Given the description of an element on the screen output the (x, y) to click on. 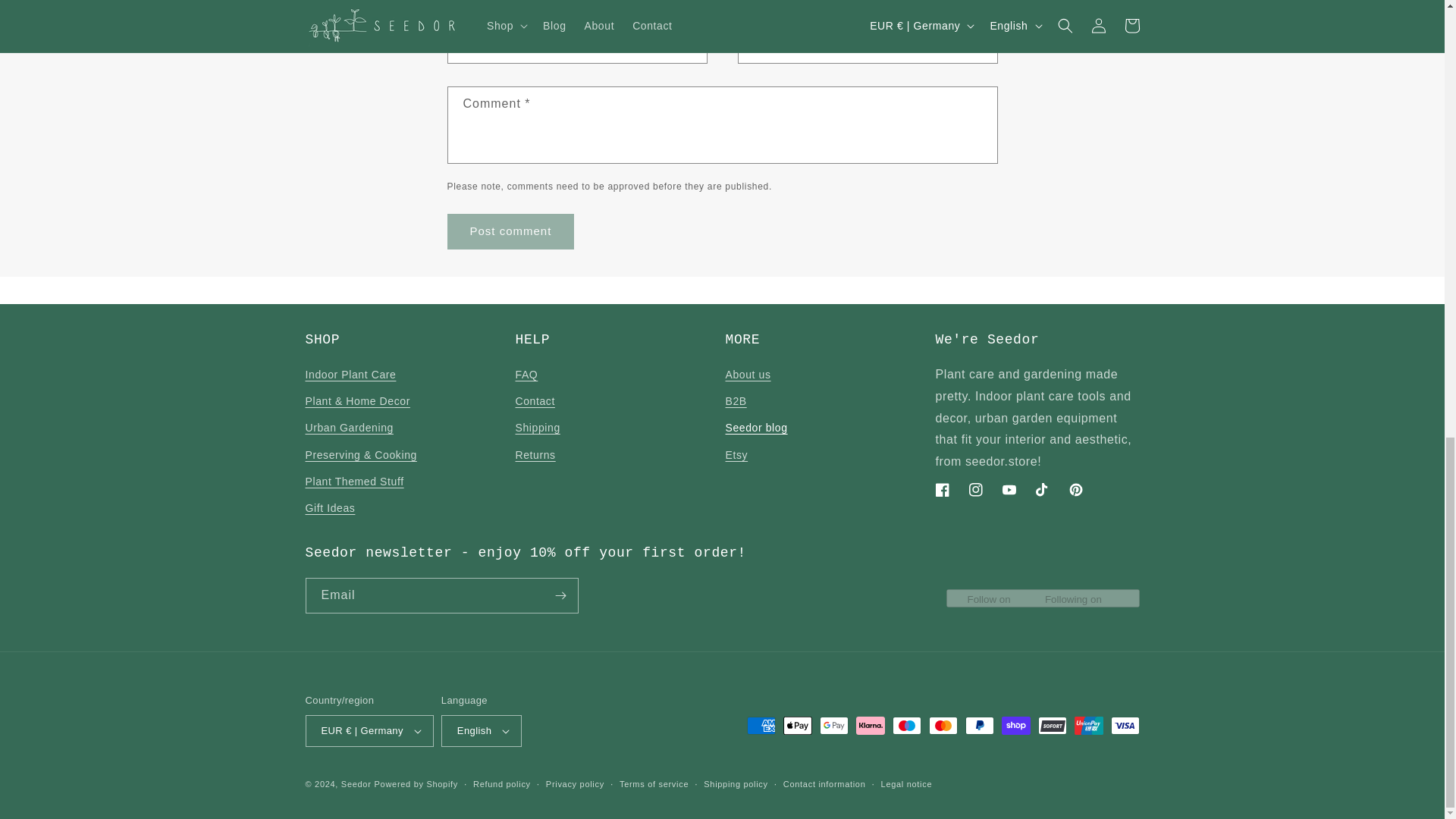
Post comment (510, 231)
